Given the description of an element on the screen output the (x, y) to click on. 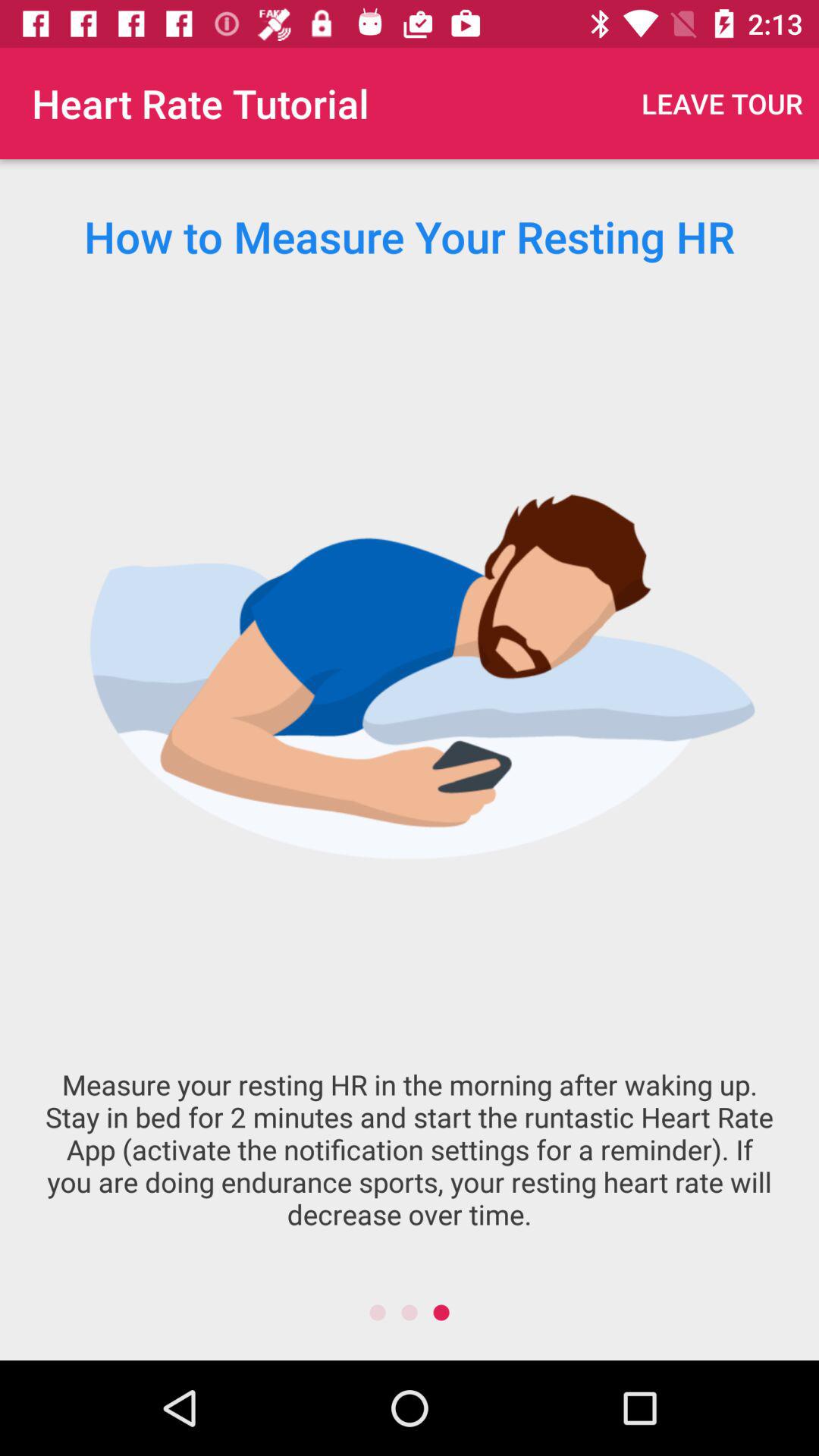
press the item next to the heart rate tutorial icon (722, 103)
